Given the description of an element on the screen output the (x, y) to click on. 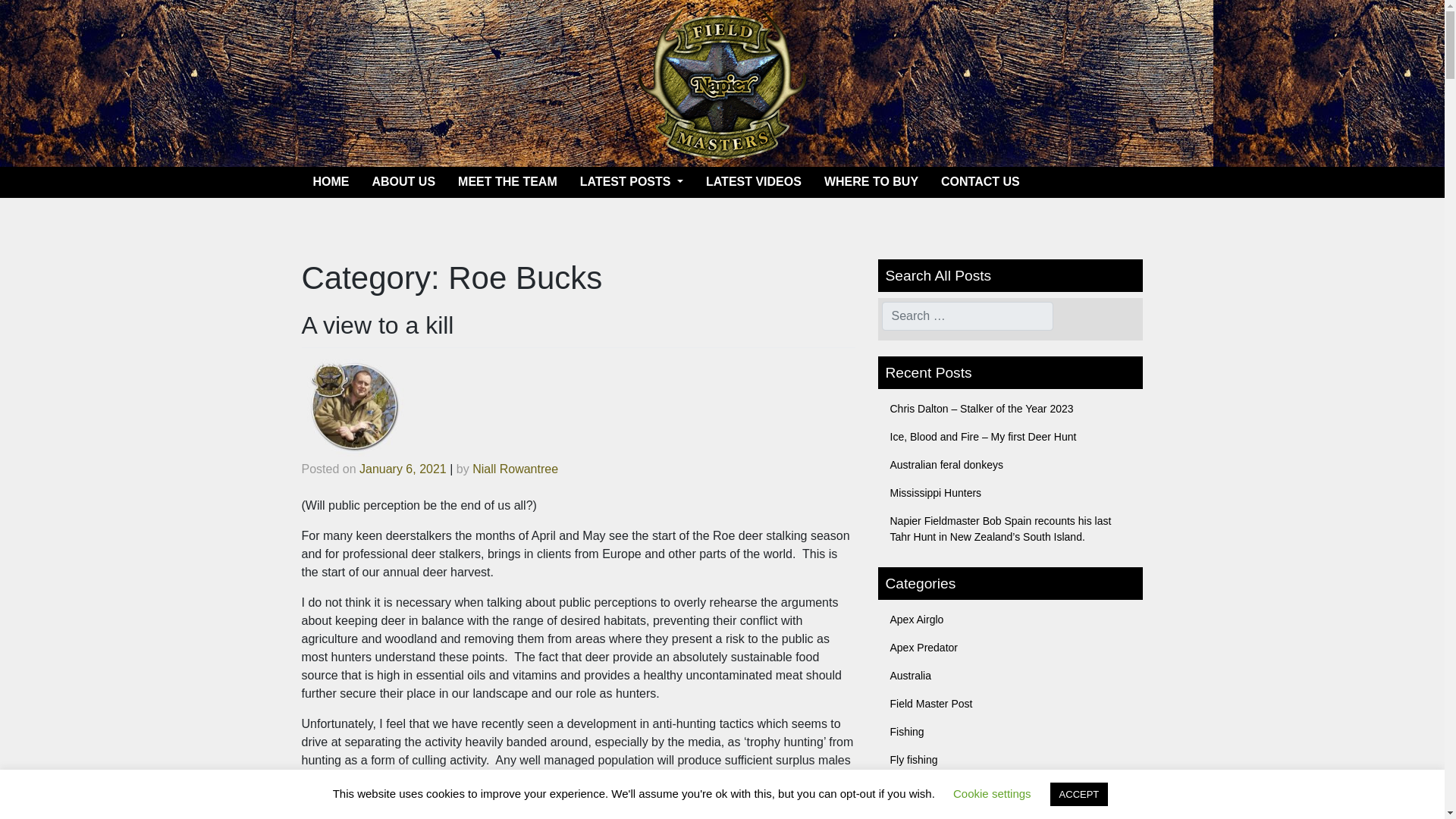
CONTACT US (980, 182)
ABOUT US (403, 182)
WHERE TO BUY (871, 182)
HOME (331, 182)
LATEST POSTS (631, 182)
Napier Field Masters (721, 82)
MEET THE TEAM (507, 182)
LATEST VIDEOS (753, 182)
January 6, 2021 (402, 468)
A view to a kill (377, 325)
Niall Rowantree (514, 468)
